Given the description of an element on the screen output the (x, y) to click on. 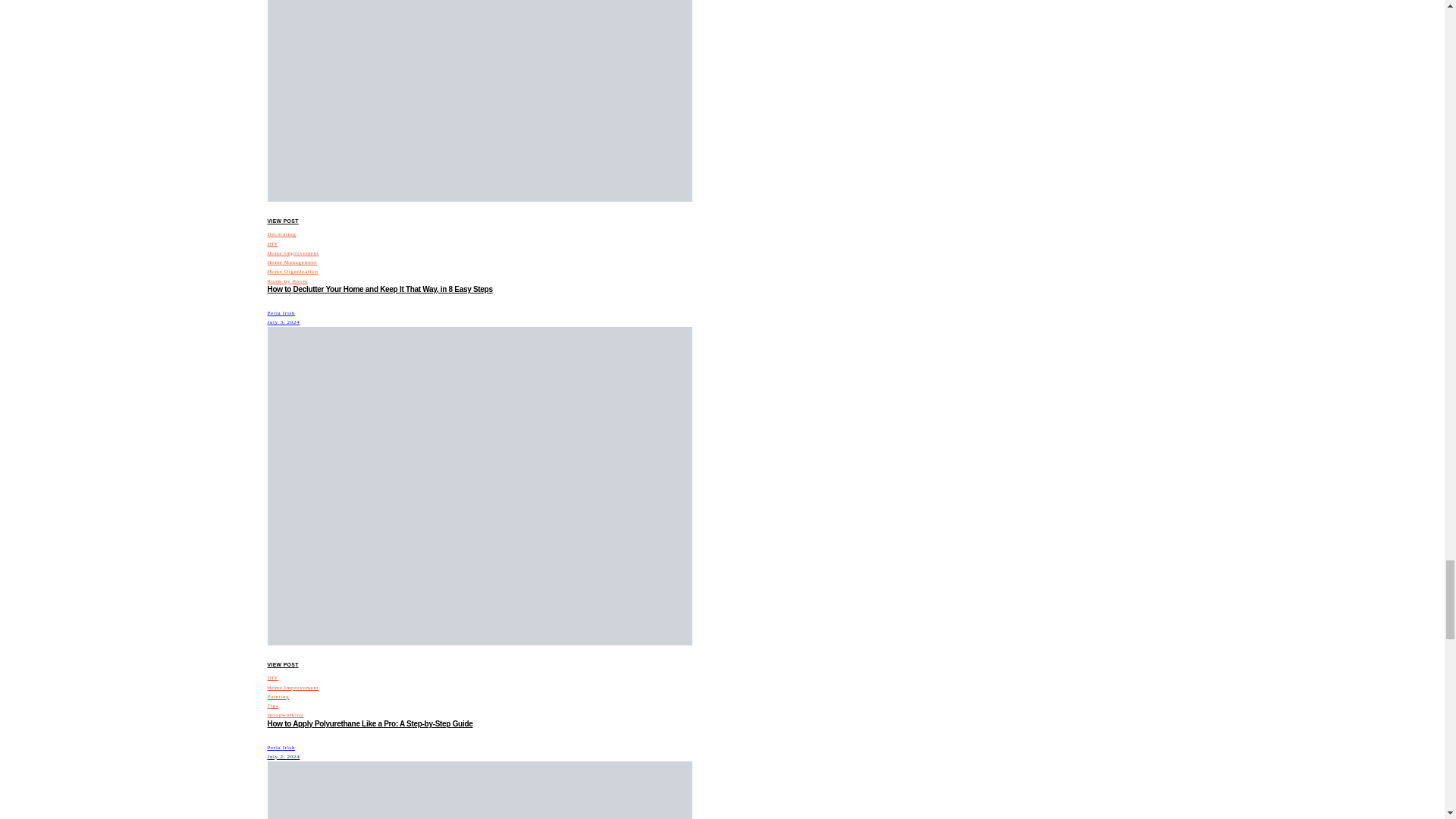
View all posts by Perla Irish (280, 313)
View all posts by Perla Irish (280, 747)
